Given the description of an element on the screen output the (x, y) to click on. 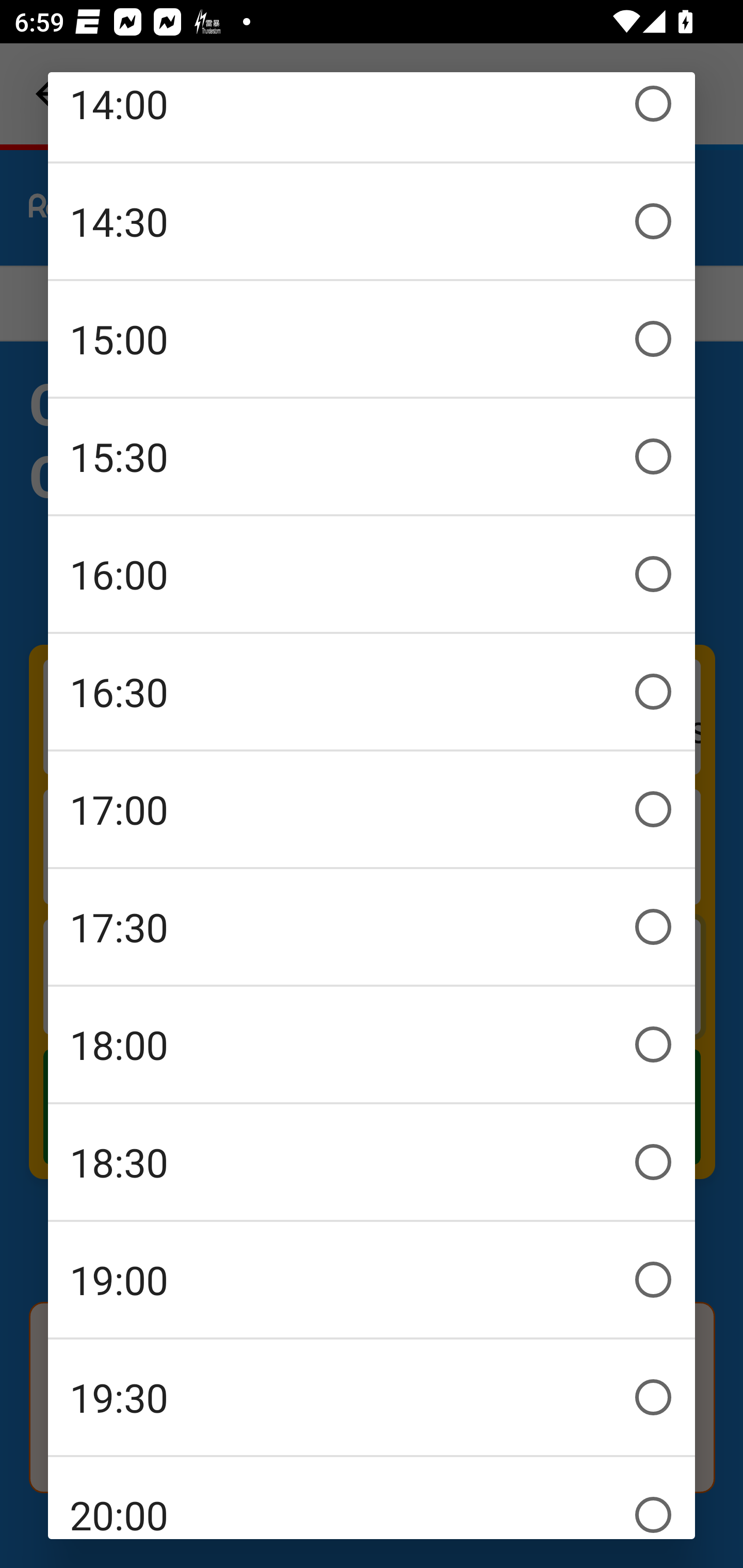
14:00 (371, 116)
14:30 (371, 221)
15:00 (371, 338)
15:30 (371, 456)
16:00 (371, 573)
16:30 (371, 691)
17:00 (371, 809)
17:30 (371, 926)
18:00 (371, 1044)
18:30 (371, 1161)
19:00 (371, 1279)
19:30 (371, 1397)
20:00 (371, 1497)
